Given the description of an element on the screen output the (x, y) to click on. 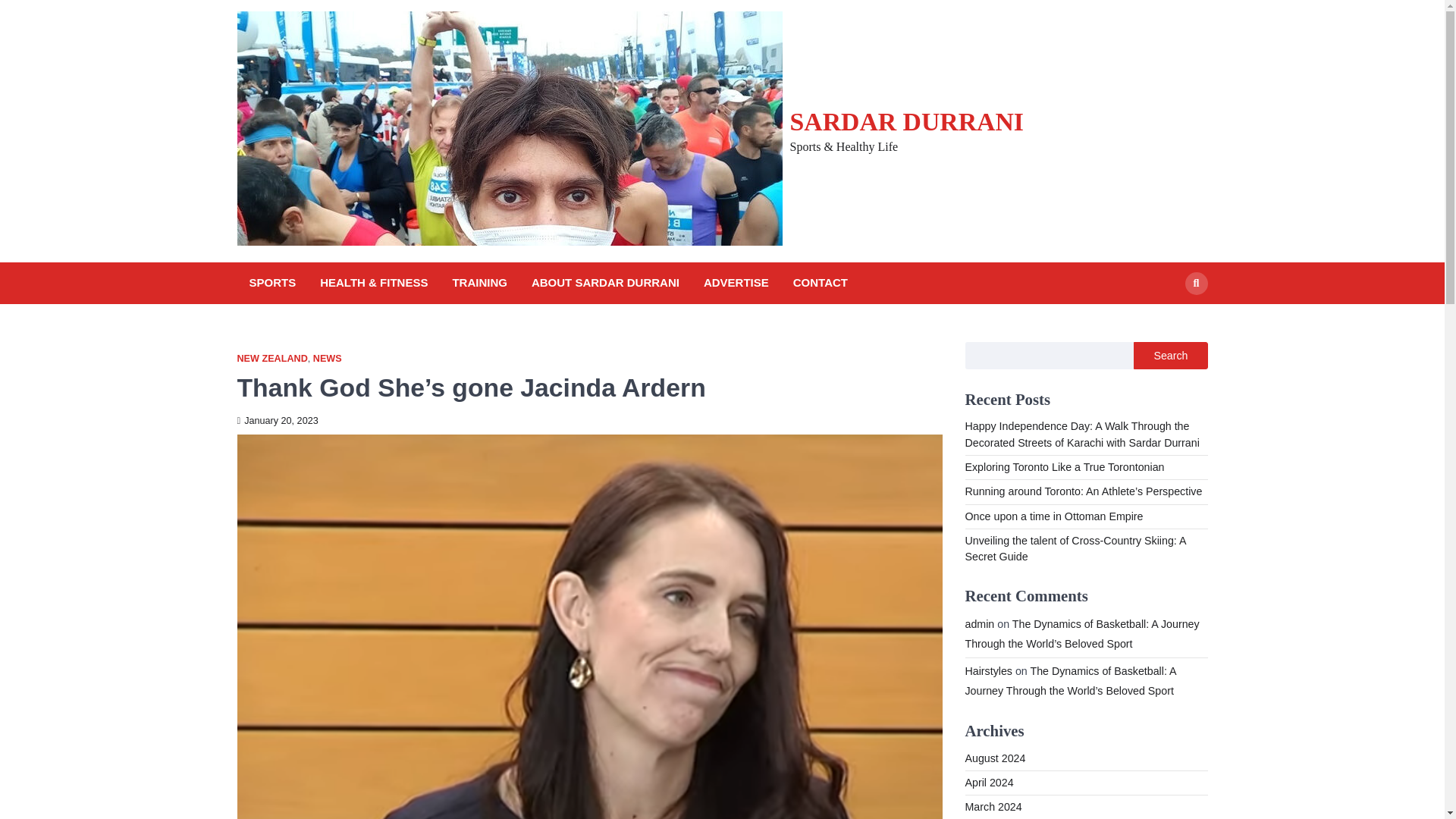
CONTACT (820, 282)
Exploring Toronto Like a True Torontonian (1063, 467)
SARDAR DURRANI (906, 121)
TRAINING (479, 282)
April 2024 (988, 782)
March 2024 (992, 806)
Hairstyles (987, 671)
Once upon a time in Ottoman Empire (1052, 516)
ADVERTISE (735, 282)
Search (1196, 282)
